Given the description of an element on the screen output the (x, y) to click on. 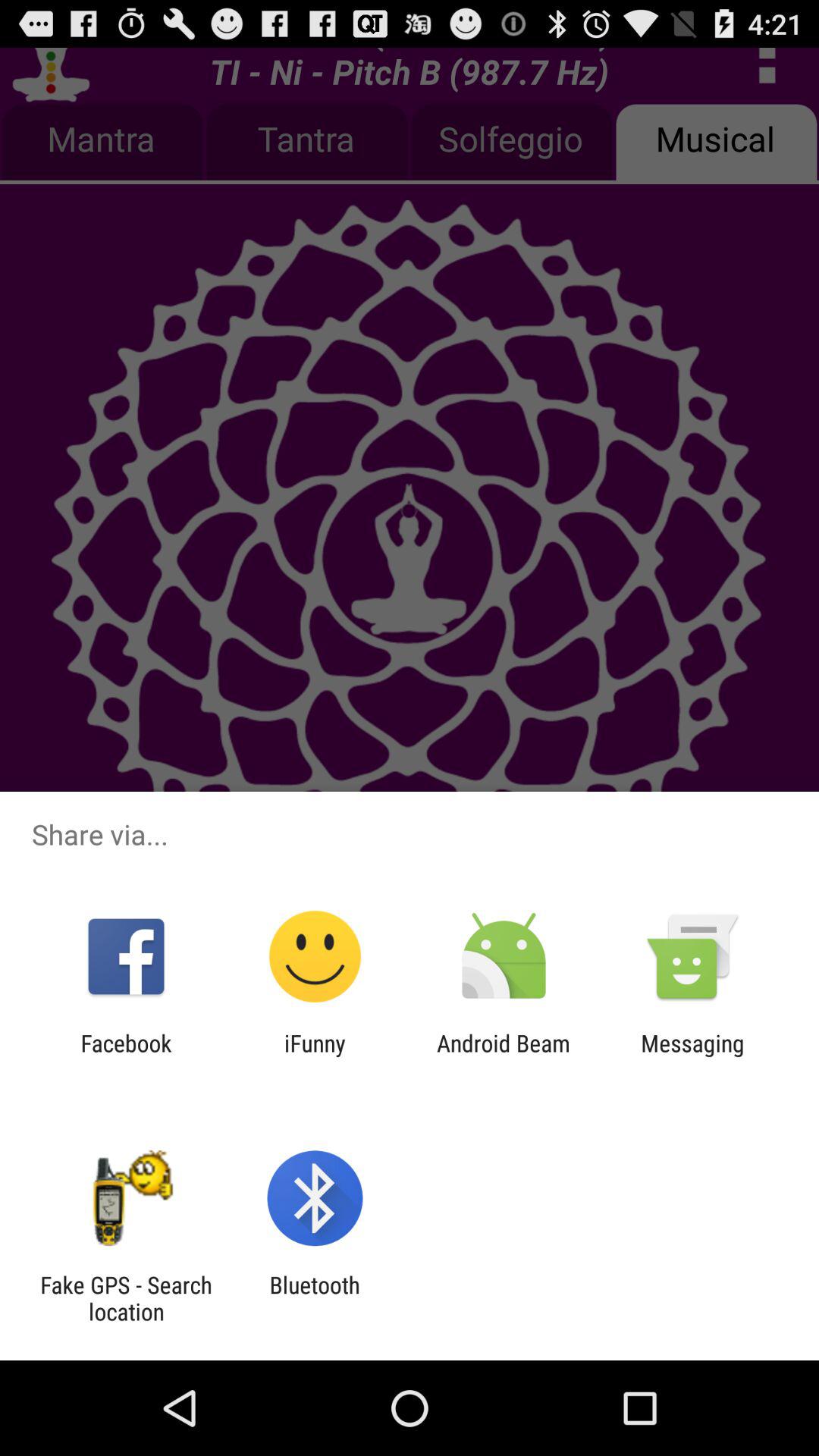
jump to facebook item (125, 1056)
